Given the description of an element on the screen output the (x, y) to click on. 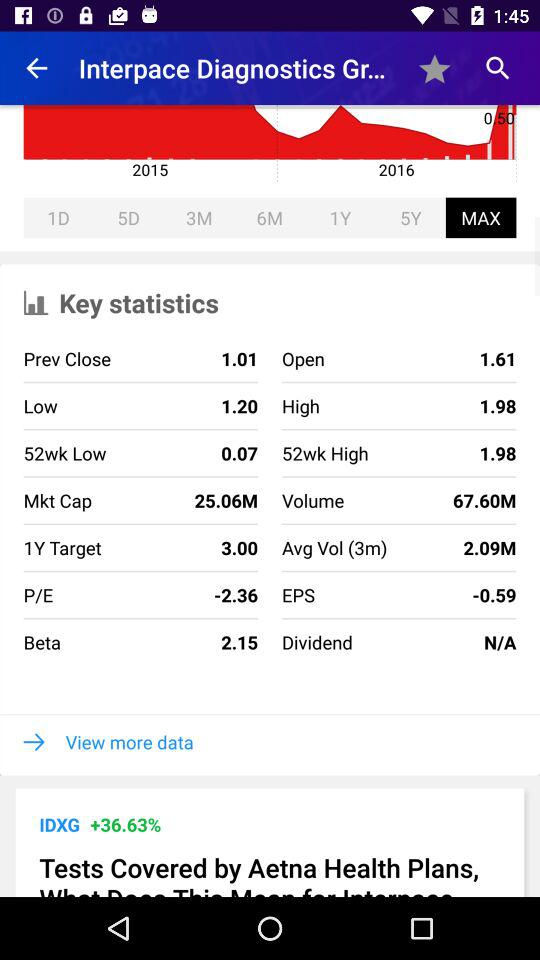
press the 52wk high icon (324, 453)
